Given the description of an element on the screen output the (x, y) to click on. 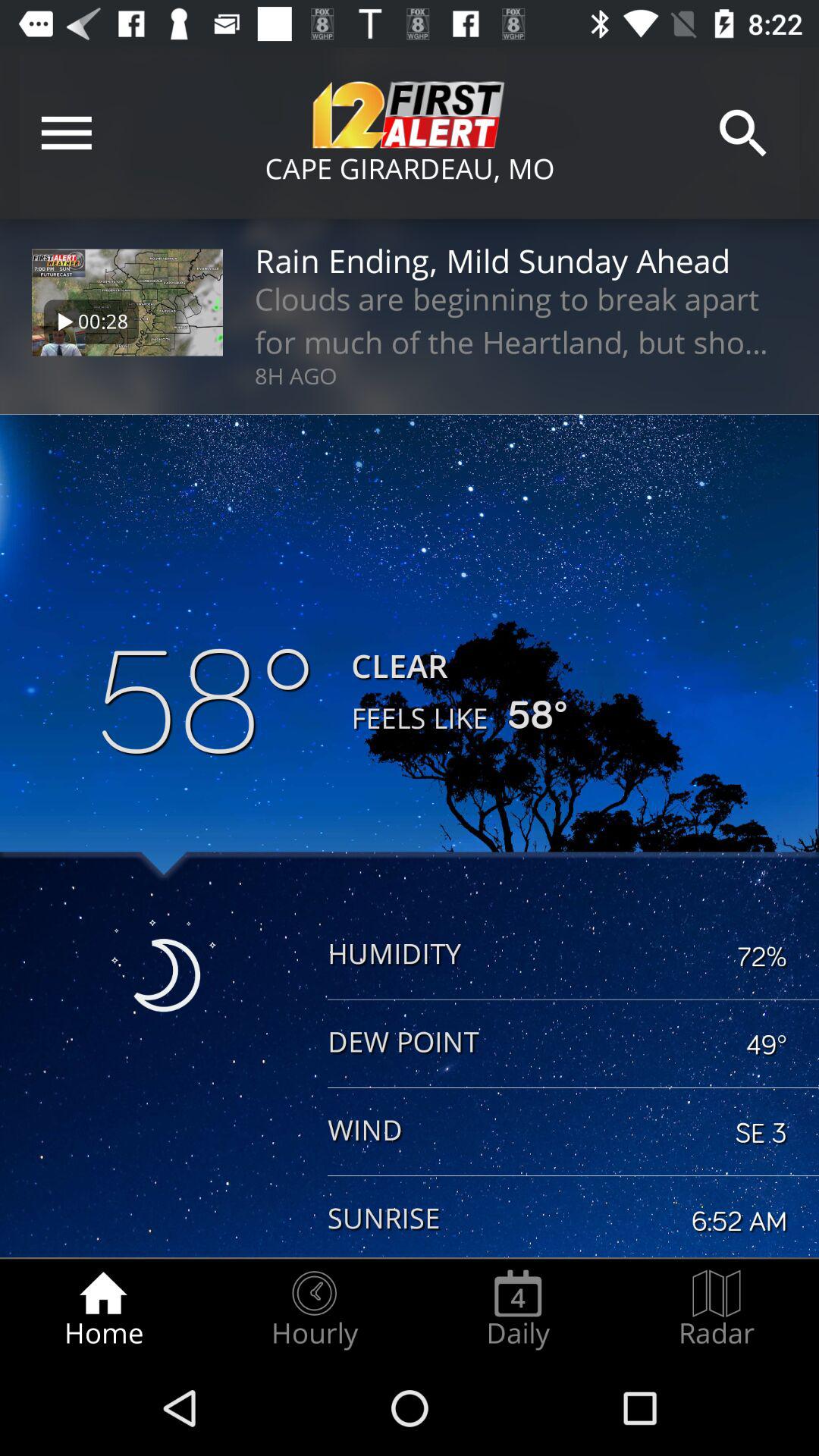
scroll to hourly icon (314, 1309)
